Given the description of an element on the screen output the (x, y) to click on. 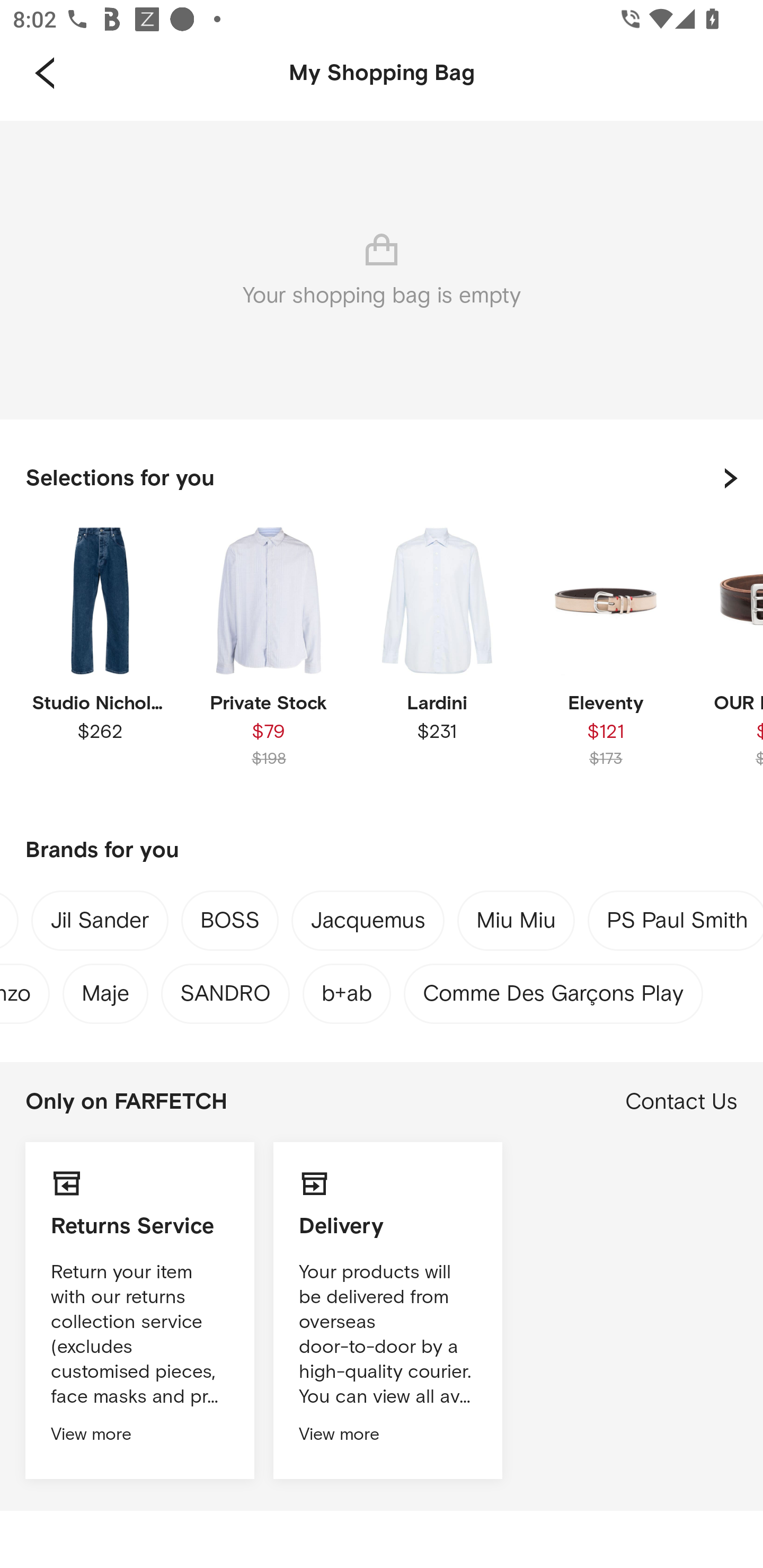
Selections for you (381, 477)
Studio Nicholson $262 (100, 660)
Private Stock $79 $198 (268, 660)
Lardini $231 (436, 660)
Eleventy $121 $173 (605, 660)
Brands for you (381, 850)
Jil Sander (99, 924)
BOSS (229, 922)
Jacquemus (367, 924)
Miu Miu (515, 922)
PS Paul Smith (677, 924)
Maje (105, 988)
SANDRO (225, 988)
b+ab (347, 988)
Comme Des Garçons Play (553, 988)
Contact Us (680, 1101)
